Given the description of an element on the screen output the (x, y) to click on. 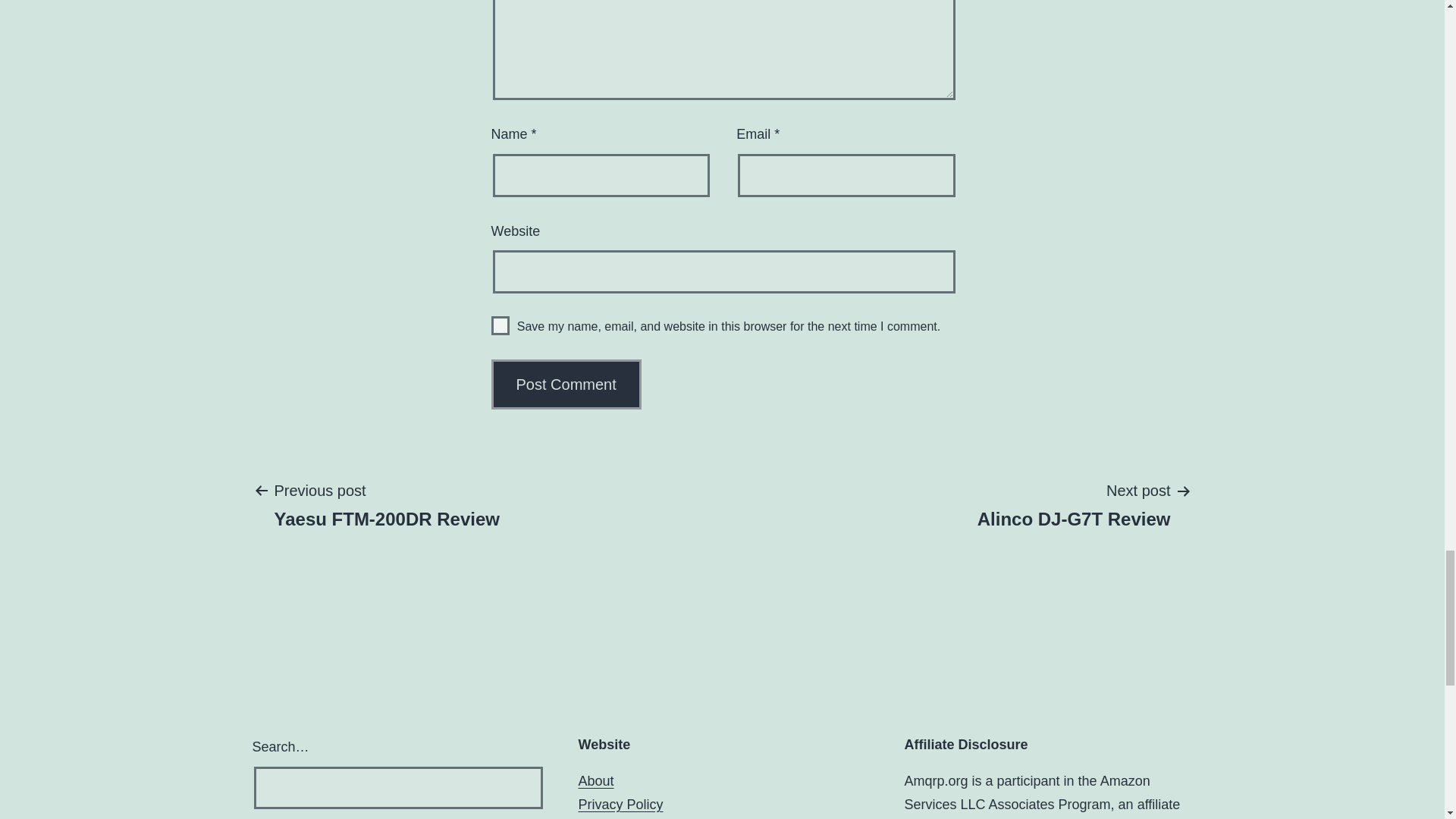
Privacy Policy (1073, 503)
About (620, 804)
Post Comment (386, 503)
yes (595, 780)
Post Comment (567, 384)
